Given the description of an element on the screen output the (x, y) to click on. 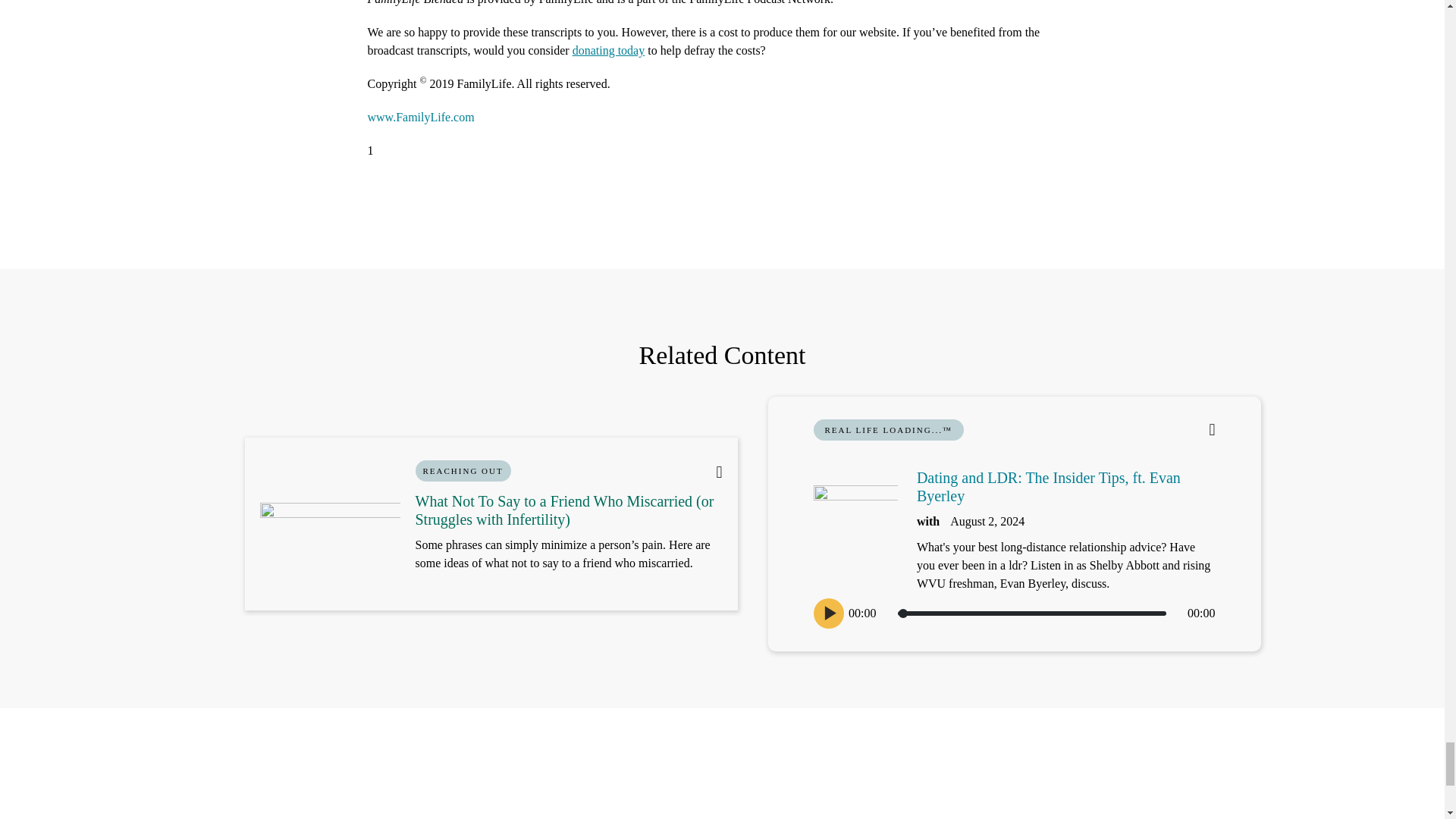
donating today (608, 50)
REACHING OUT (462, 470)
Dating and LDR: The Insider Tips, ft. Evan Byerley (1048, 486)
www.FamilyLife.com (420, 116)
0 (1032, 612)
